Given the description of an element on the screen output the (x, y) to click on. 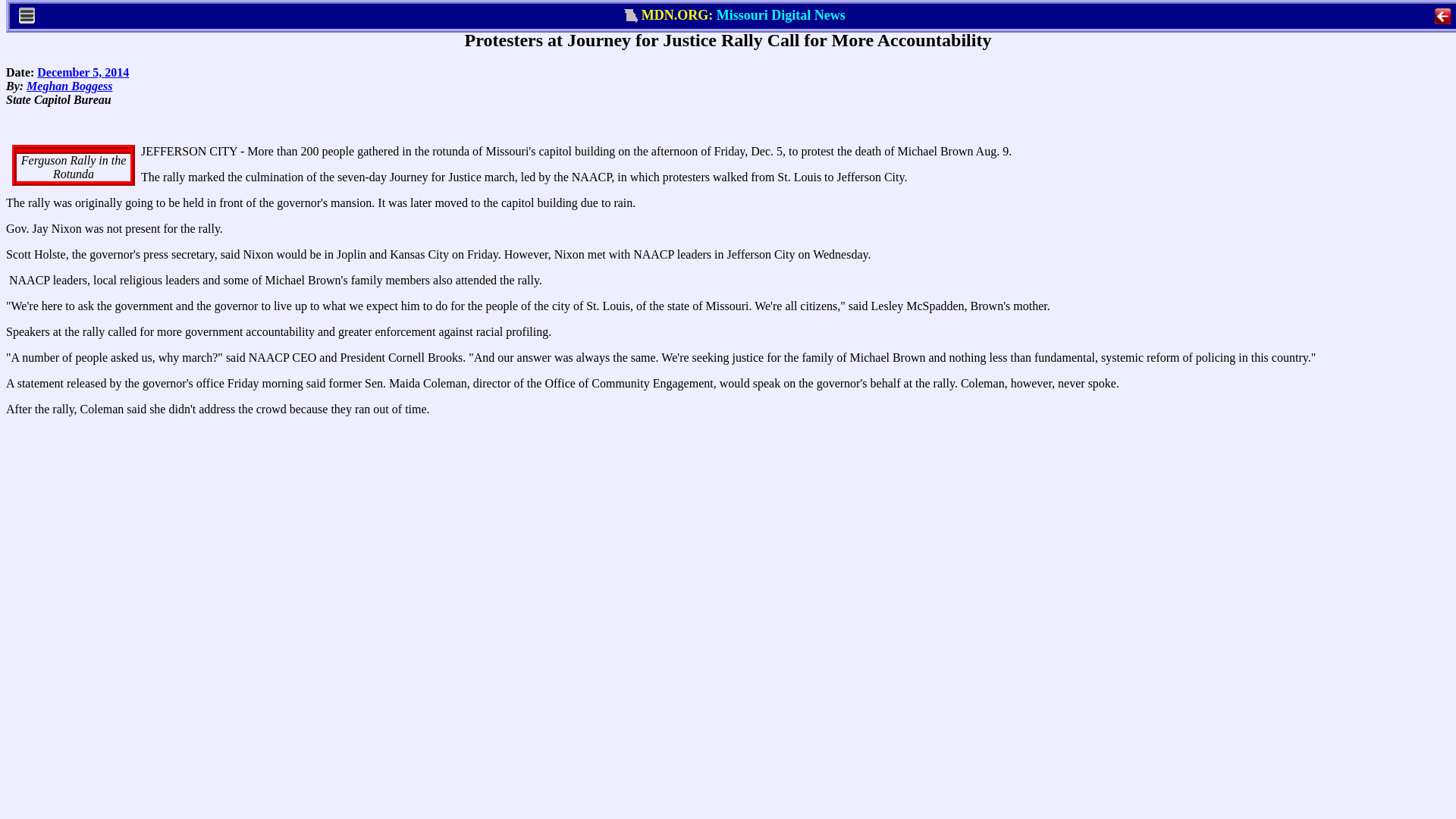
Meghan Boggess (69, 85)
December 5, 2014 (83, 72)
